Given the description of an element on the screen output the (x, y) to click on. 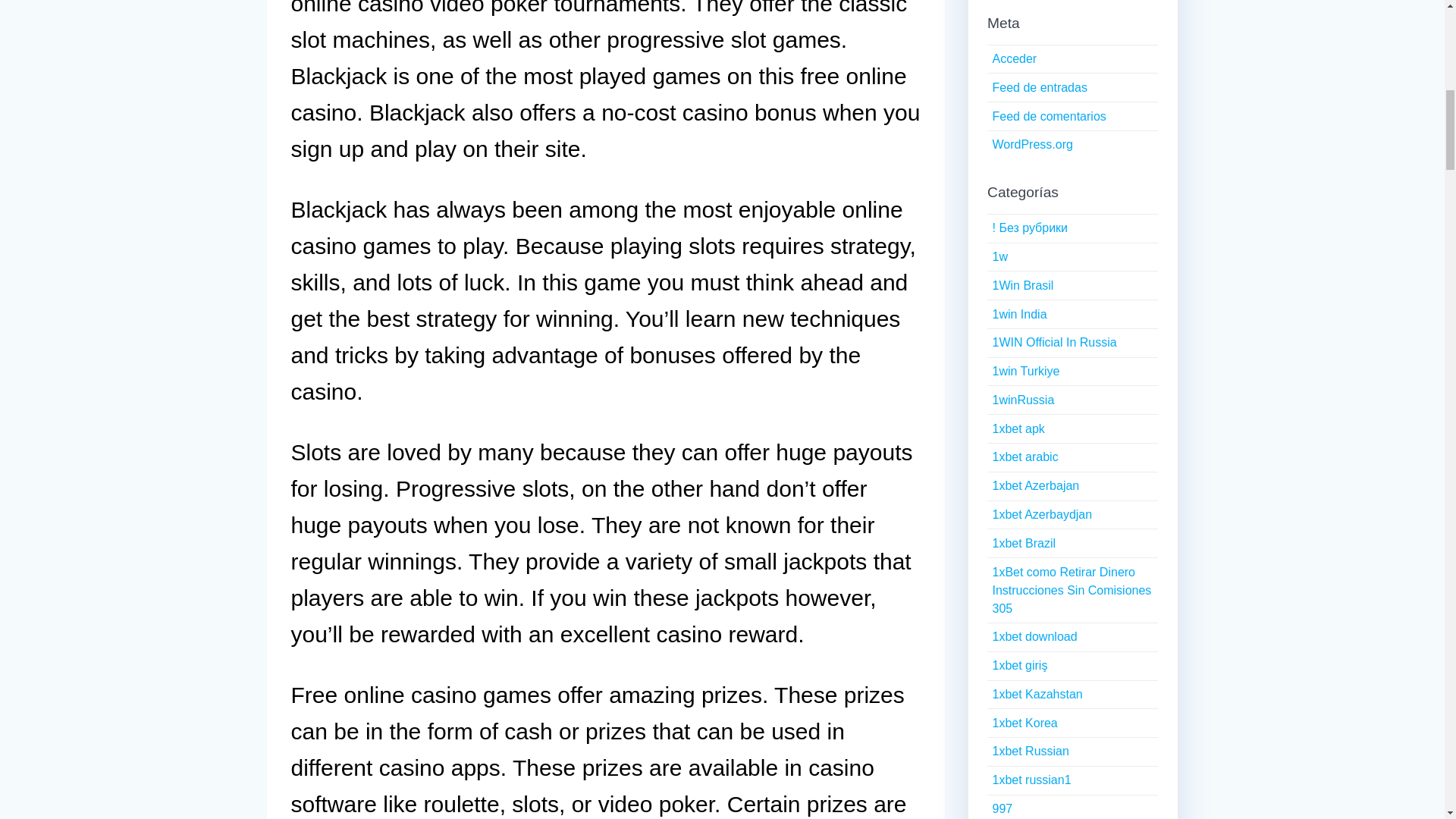
1xbet Kazahstan (1036, 694)
1xbet Brazil (1023, 543)
1xBet como Retirar Dinero Instrucciones Sin Comisiones 305 (1071, 590)
1win Turkiye (1025, 370)
WordPress.org (1031, 144)
1xbet apk (1017, 428)
Feed de entradas (1038, 87)
1win India (1018, 314)
1WIN Official In Russia (1053, 341)
Feed de comentarios (1048, 115)
